Given the description of an element on the screen output the (x, y) to click on. 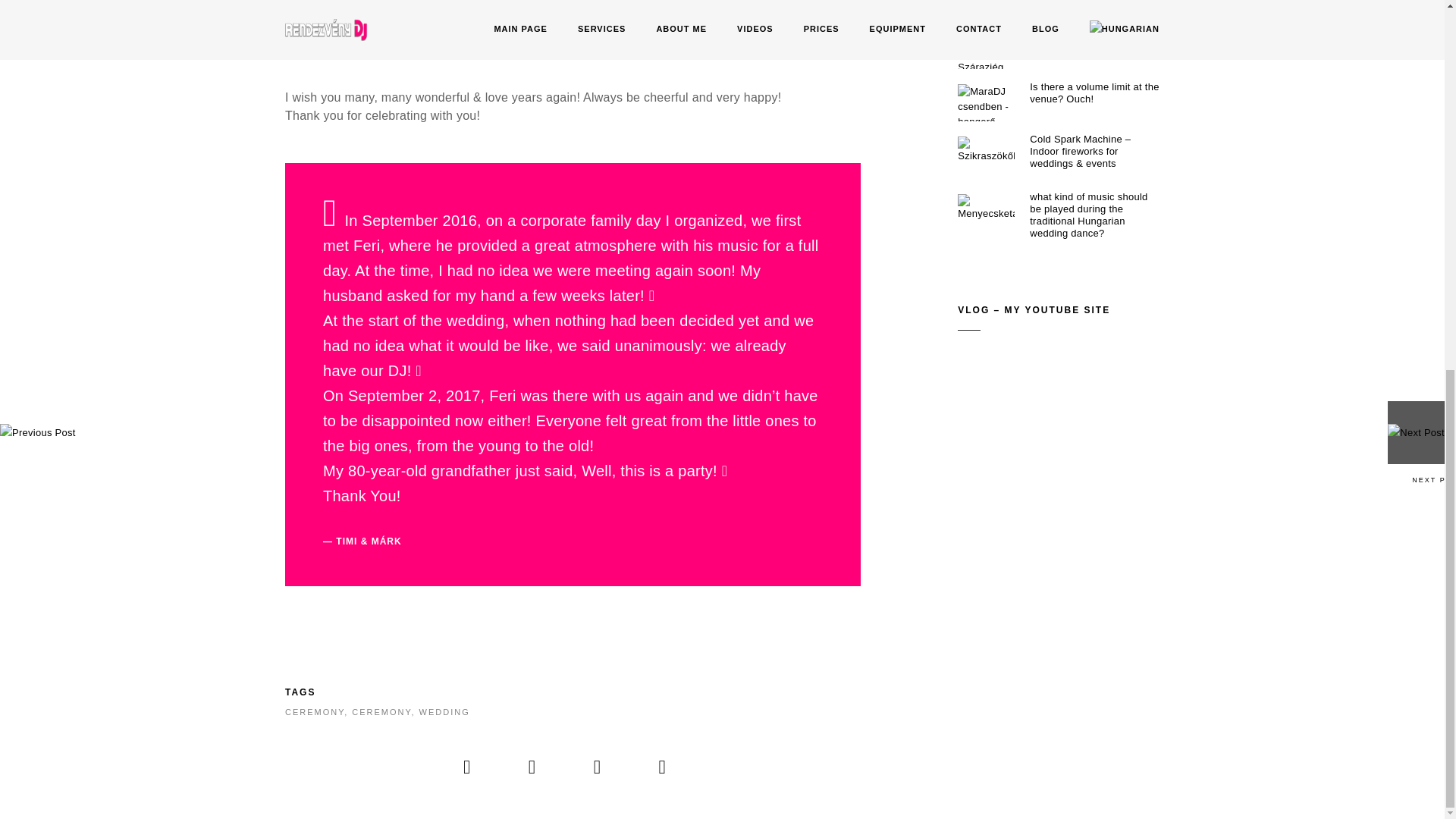
CEREMONY (314, 711)
CEREMONY (381, 711)
WEDDING (444, 711)
